Given the description of an element on the screen output the (x, y) to click on. 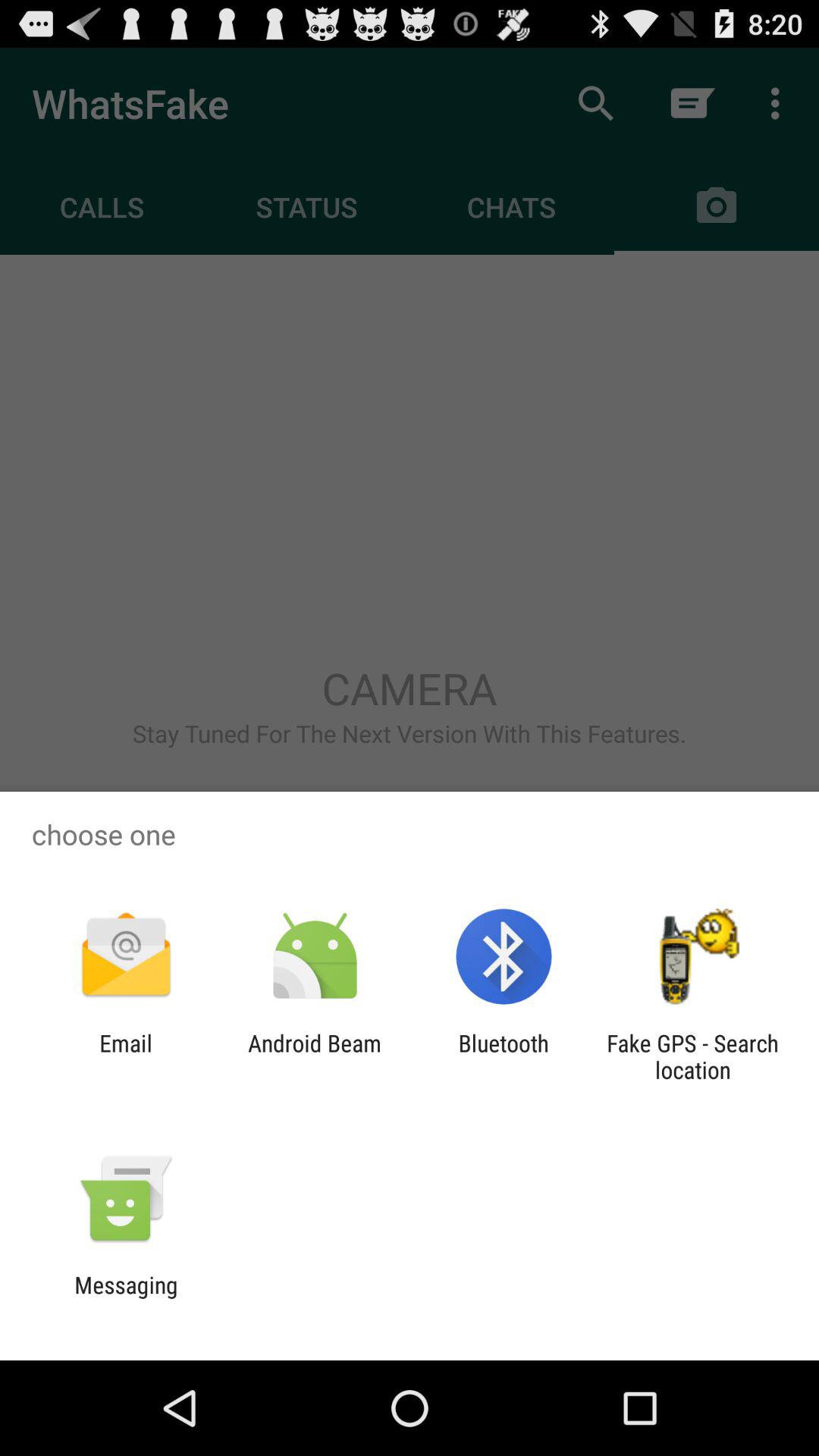
select the messaging icon (126, 1298)
